Given the description of an element on the screen output the (x, y) to click on. 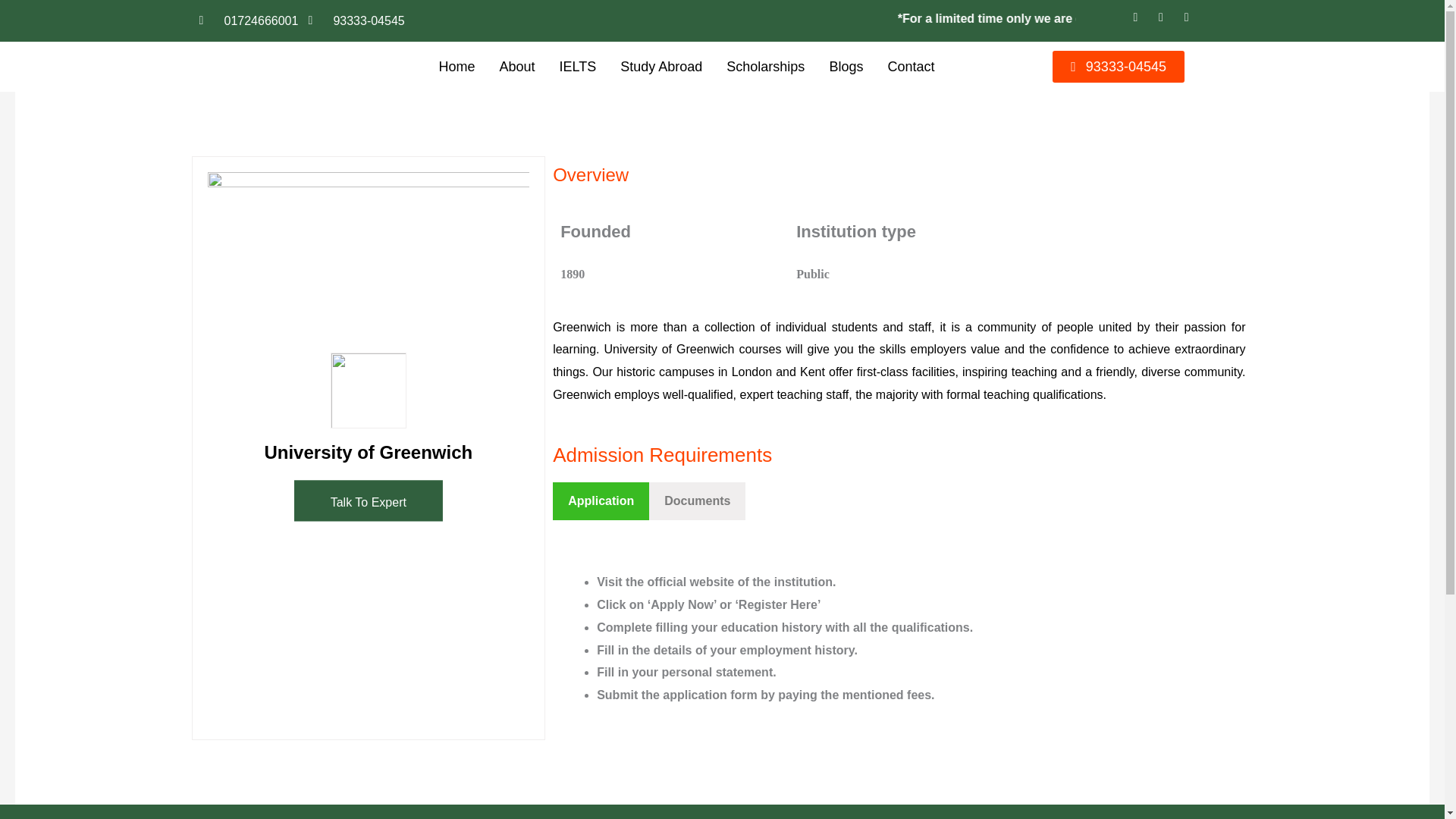
Twitter (1164, 21)
93333-04545 (1118, 66)
Contact (910, 66)
Facebook (1138, 21)
93333-04545 (355, 20)
About (516, 66)
IELTS (577, 66)
01724666001 (248, 20)
Study Abroad (661, 66)
Scholarships (765, 66)
Blogs (845, 66)
Instagram (1189, 21)
Home (456, 66)
